Given the description of an element on the screen output the (x, y) to click on. 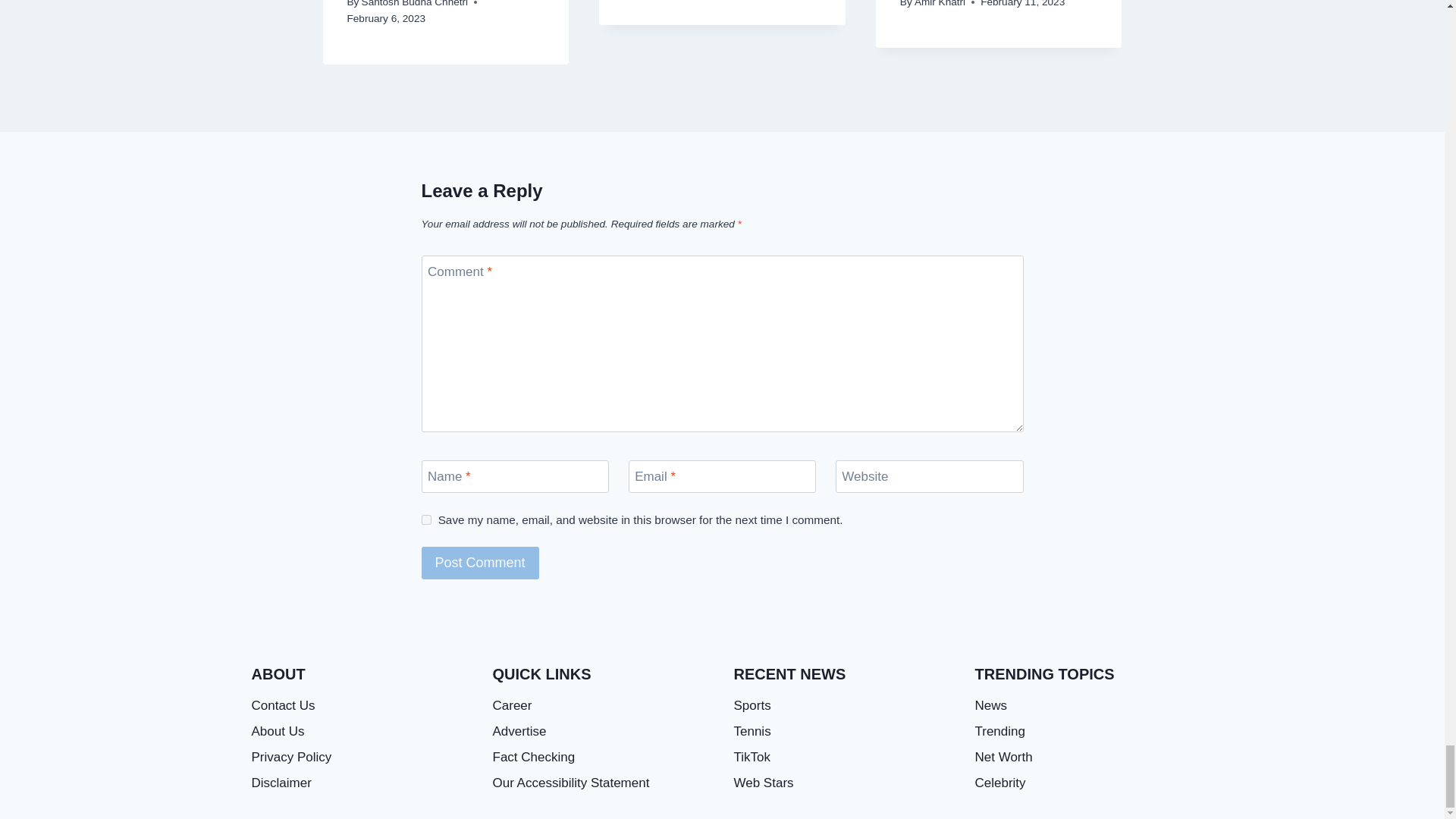
Post Comment (480, 563)
yes (426, 519)
